Given the description of an element on the screen output the (x, y) to click on. 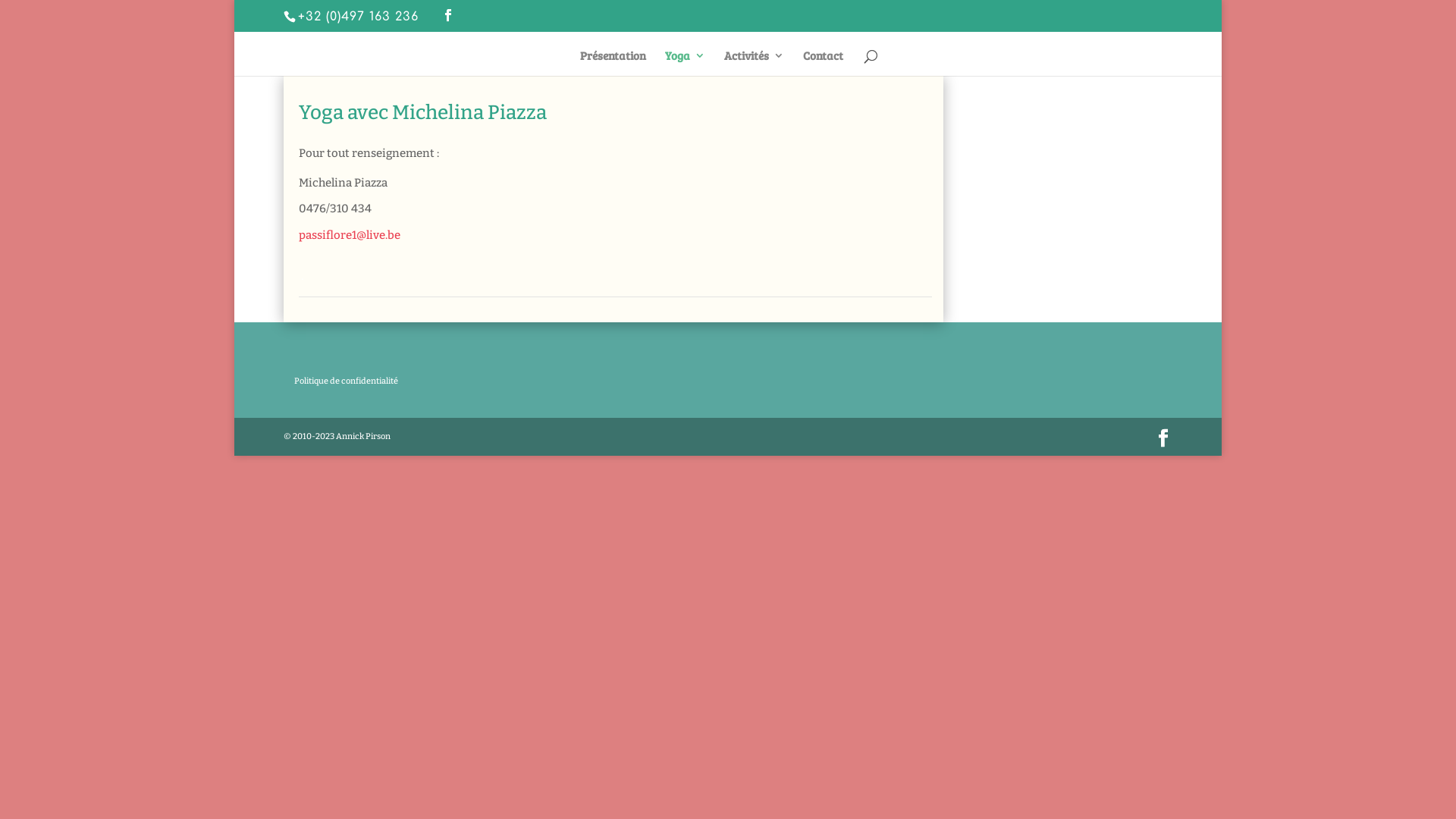
Contact Element type: text (823, 62)
passiflore1@live.be Element type: text (349, 234)
Yoga Element type: text (685, 62)
